Given the description of an element on the screen output the (x, y) to click on. 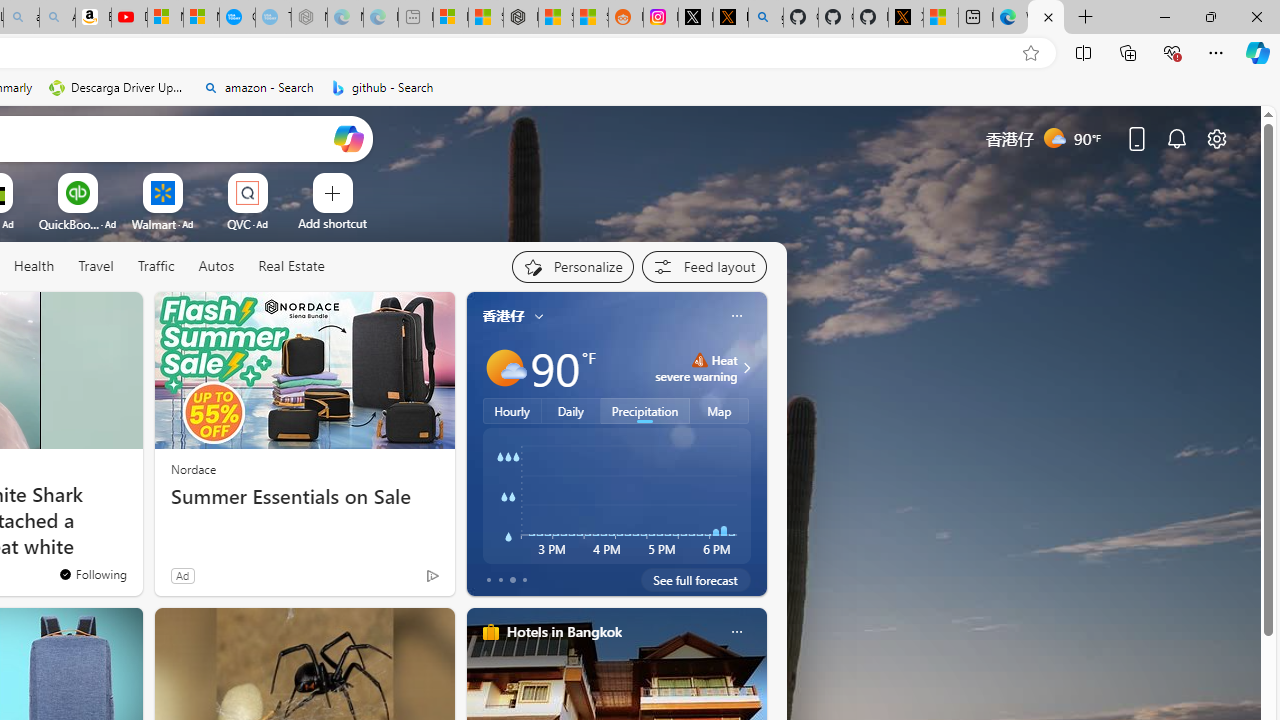
Page settings (1216, 138)
Map (719, 411)
3 PM 4 PM 5 PM 6 PM (616, 495)
Feed settings (703, 266)
Autos (216, 267)
Health (34, 265)
Daily (571, 411)
Real Estate (291, 265)
